Given the description of an element on the screen output the (x, y) to click on. 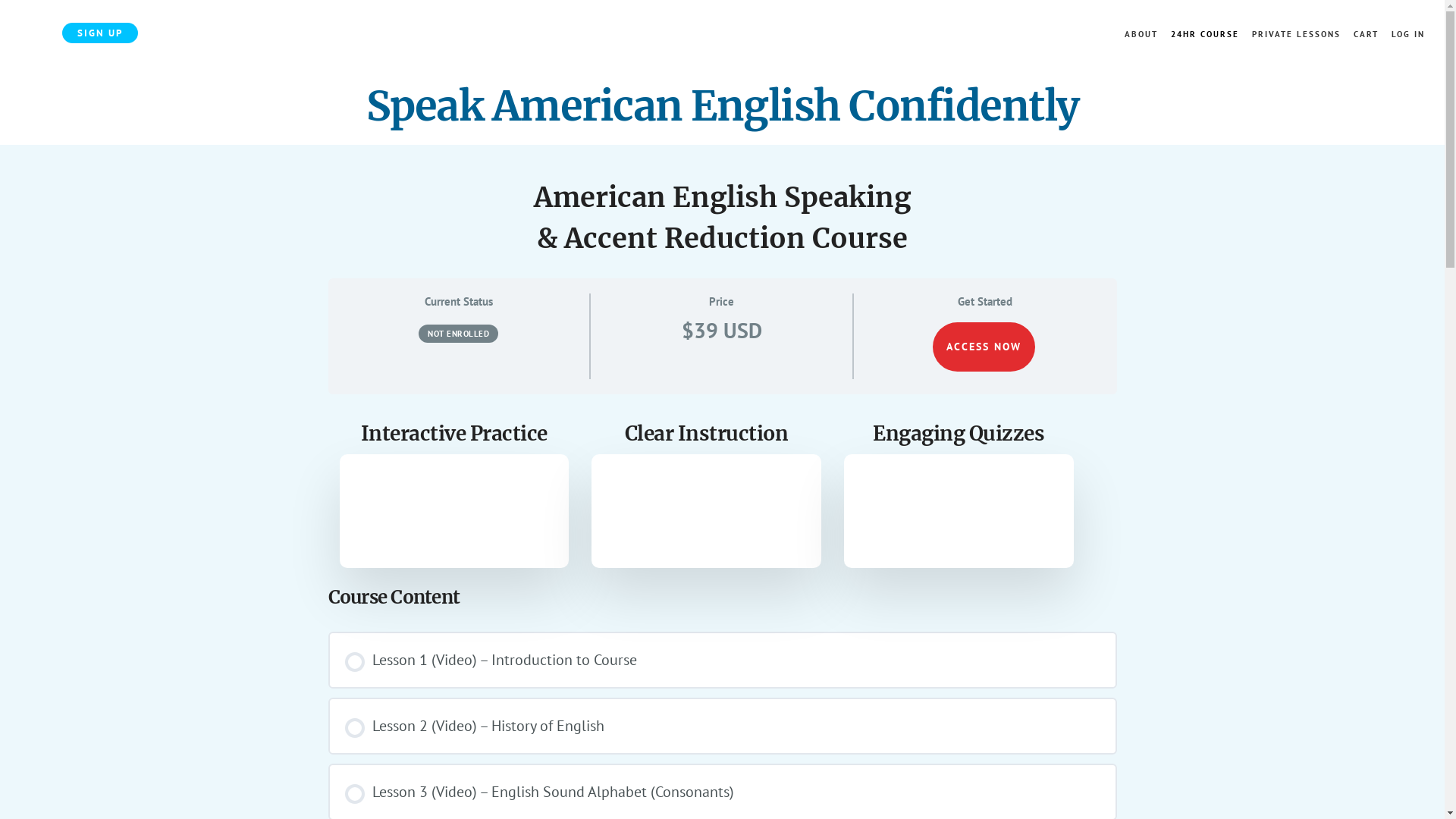
PRIVATE LESSONS Element type: text (1296, 34)
NOT ENROLLED Element type: text (458, 332)
ABOUT Element type: text (1141, 34)
ACCESS NOW Element type: text (983, 346)
$39 USD Element type: text (720, 330)
CART Element type: text (1366, 34)
LOG IN Element type: text (1407, 34)
SIGN UP Element type: text (100, 32)
24HR COURSE Element type: text (1204, 34)
Skip to main content Element type: text (0, 0)
